Given the description of an element on the screen output the (x, y) to click on. 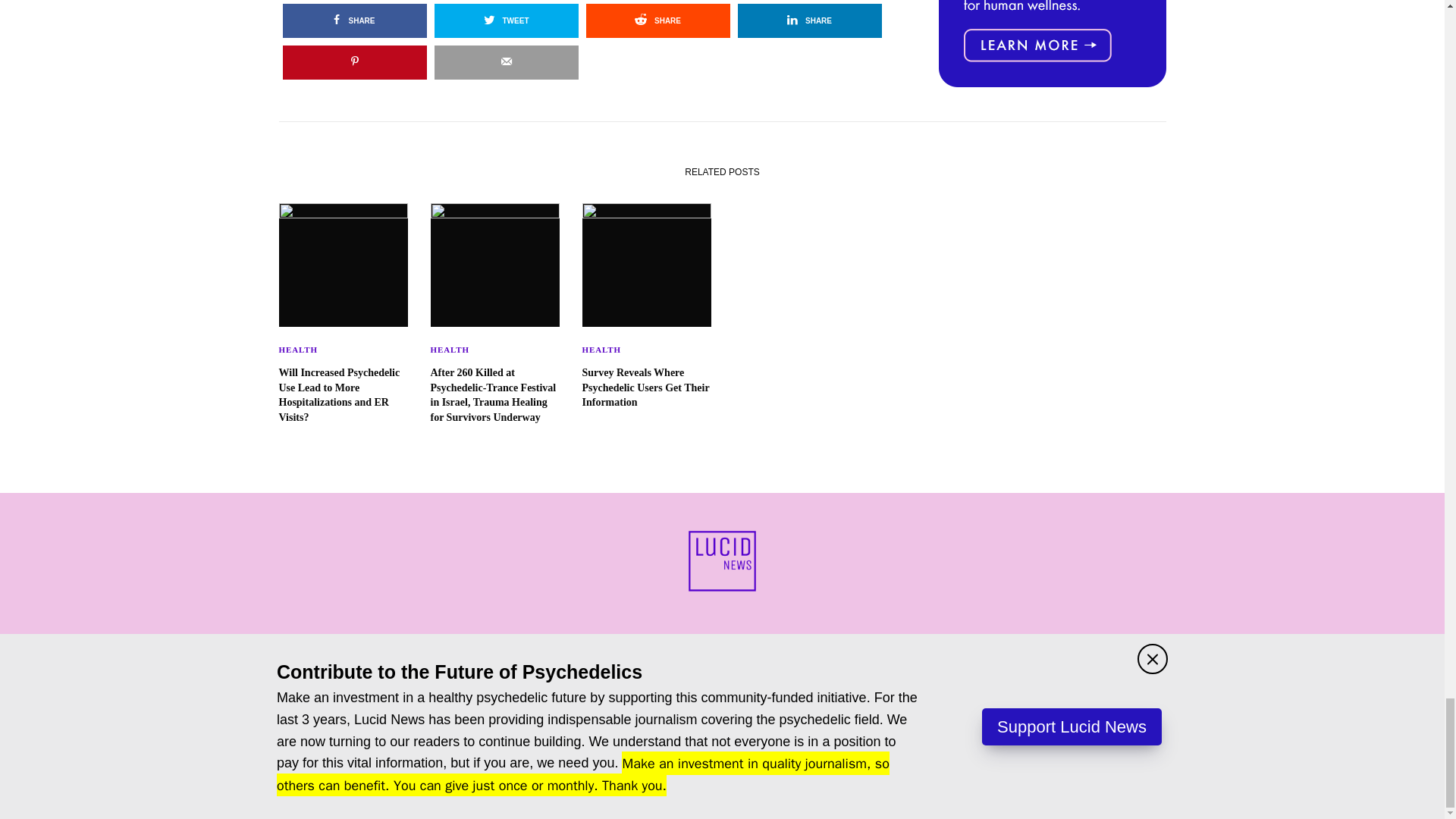
Survey Reveals Where Psychedelic Users Get Their Information (646, 387)
Lucid News (721, 560)
